Given the description of an element on the screen output the (x, y) to click on. 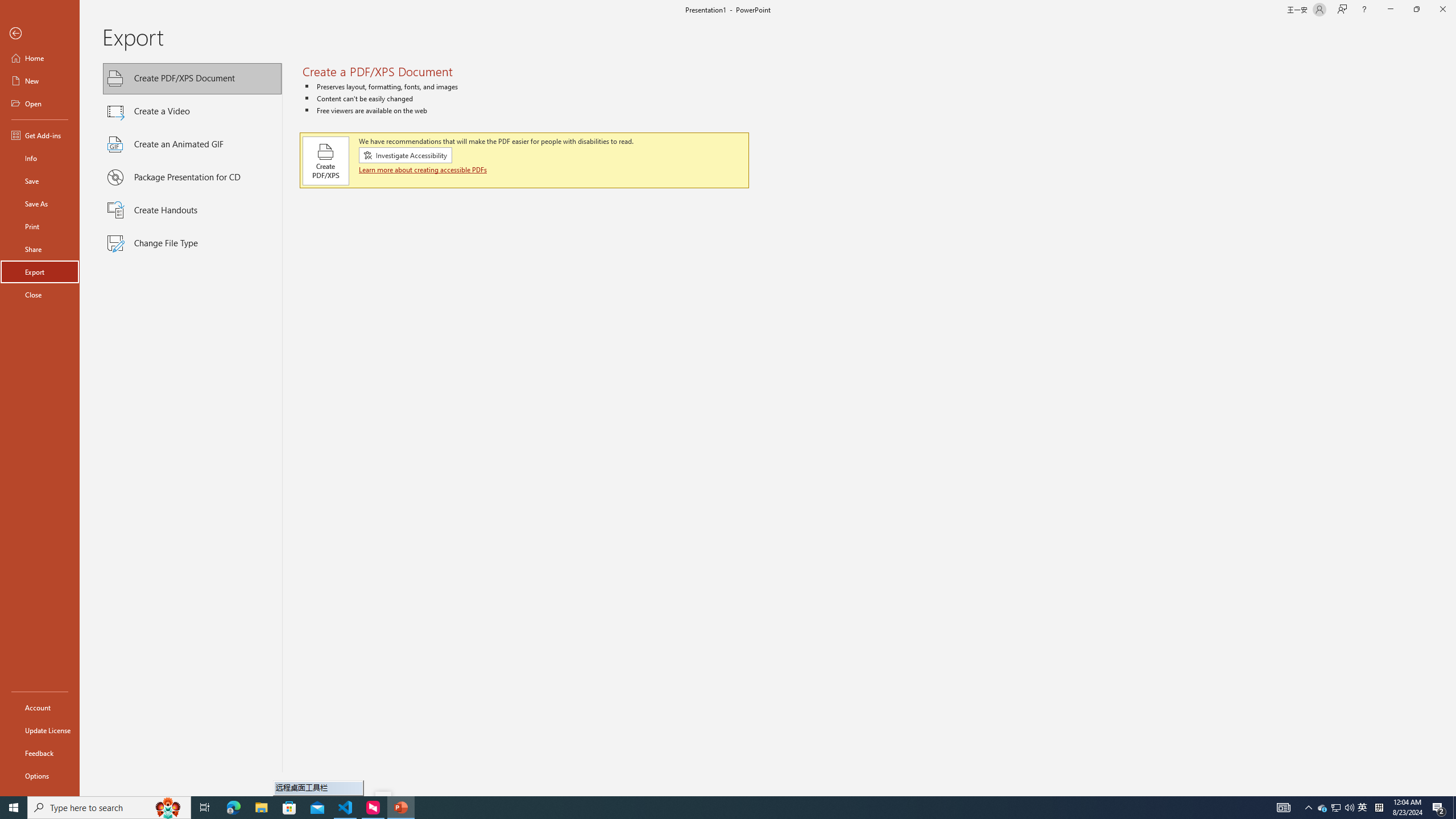
Create PDF/XPS Document (192, 78)
New (40, 80)
Options (40, 775)
Update License (40, 730)
Print (40, 225)
Create an Animated GIF (192, 144)
Back (40, 33)
Change File Type (192, 243)
Publishing Features (192, 423)
